Given the description of an element on the screen output the (x, y) to click on. 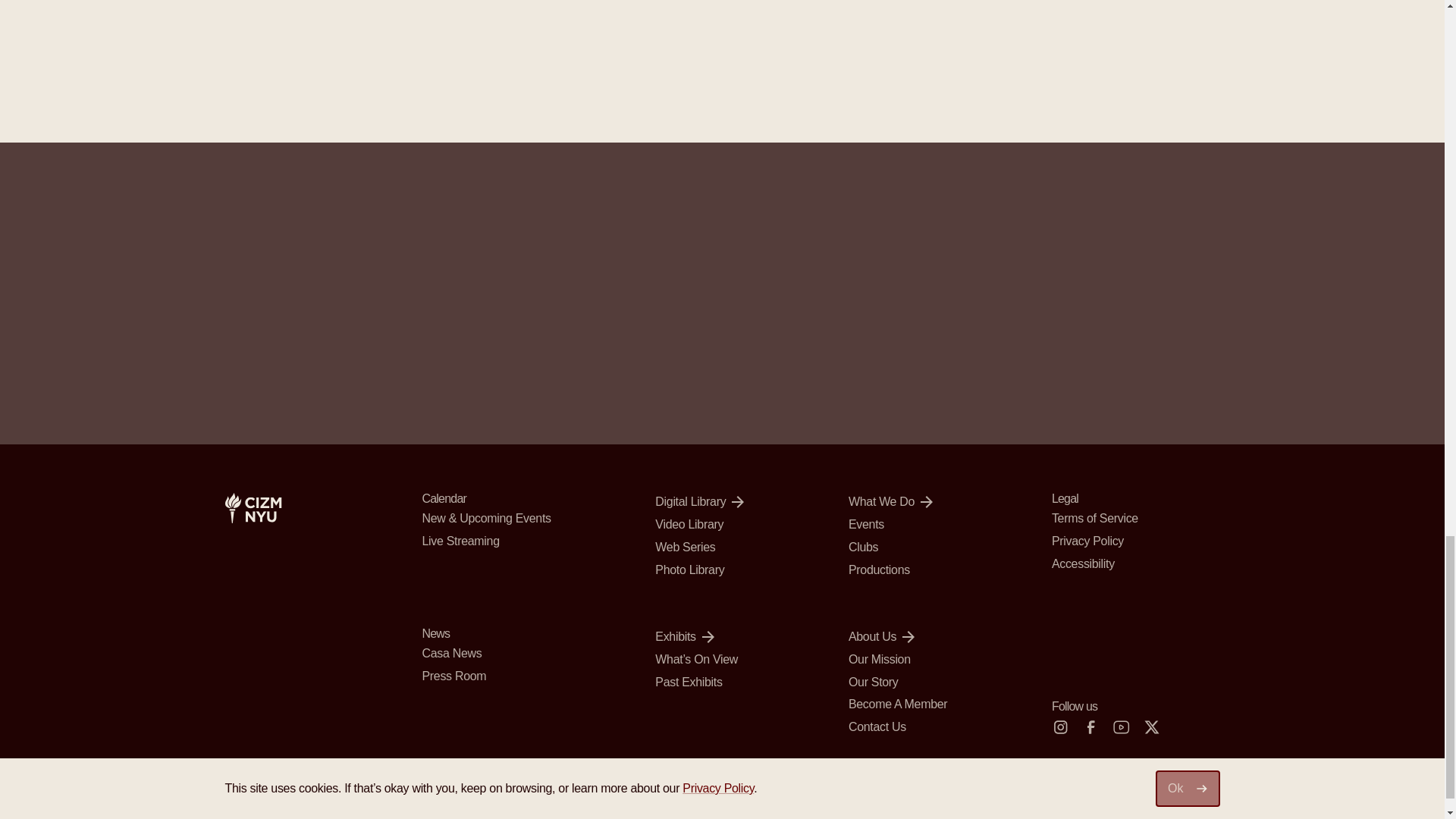
Facebook (1090, 727)
Instagram (1060, 727)
